Given the description of an element on the screen output the (x, y) to click on. 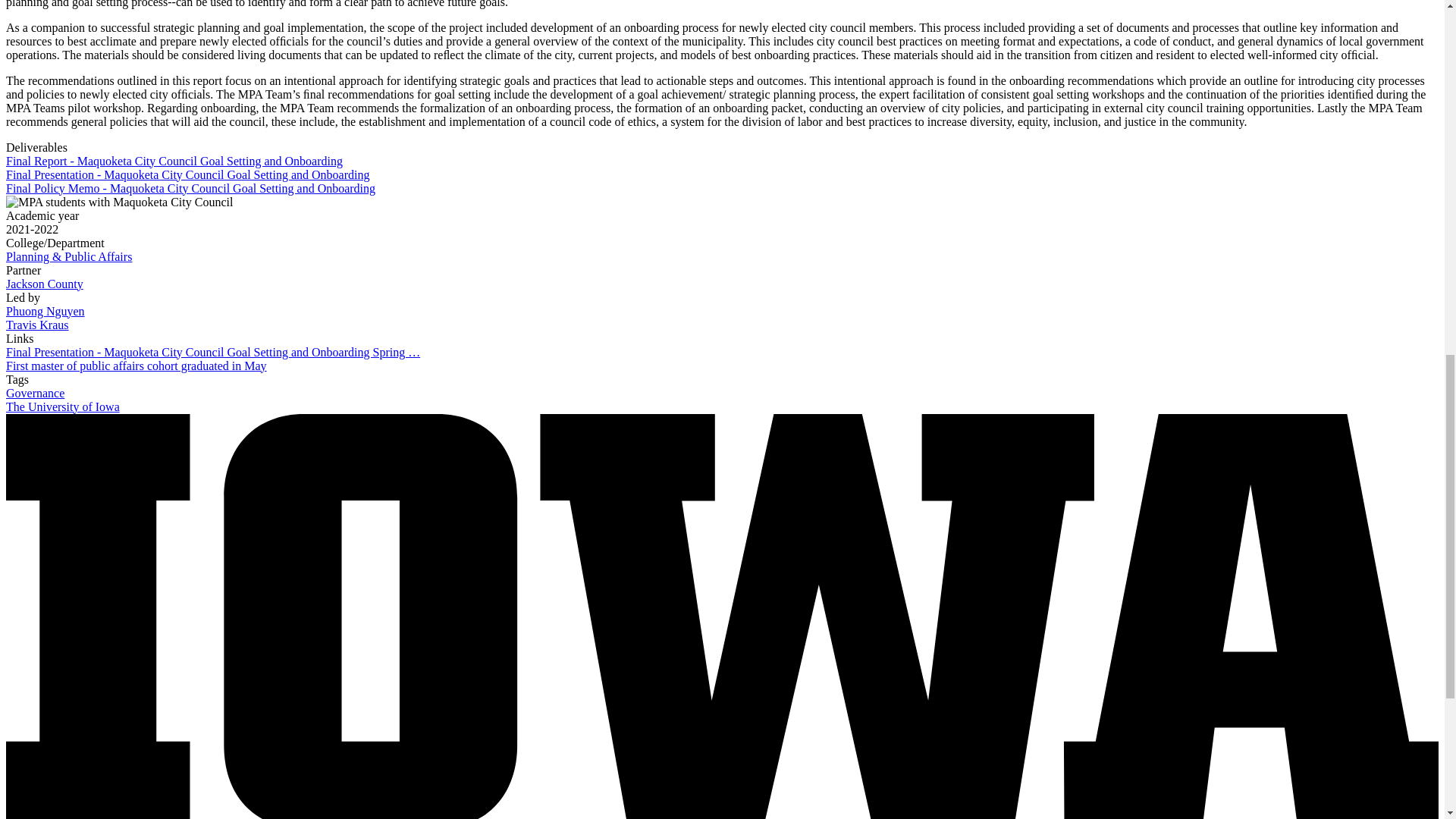
Jackson County (43, 283)
First master of public affairs cohort graduated in May (135, 365)
MPA students with Maquoketa City Council (118, 202)
Travis Kraus (36, 324)
Phuong Nguyen (44, 310)
Governance (34, 392)
